Given the description of an element on the screen output the (x, y) to click on. 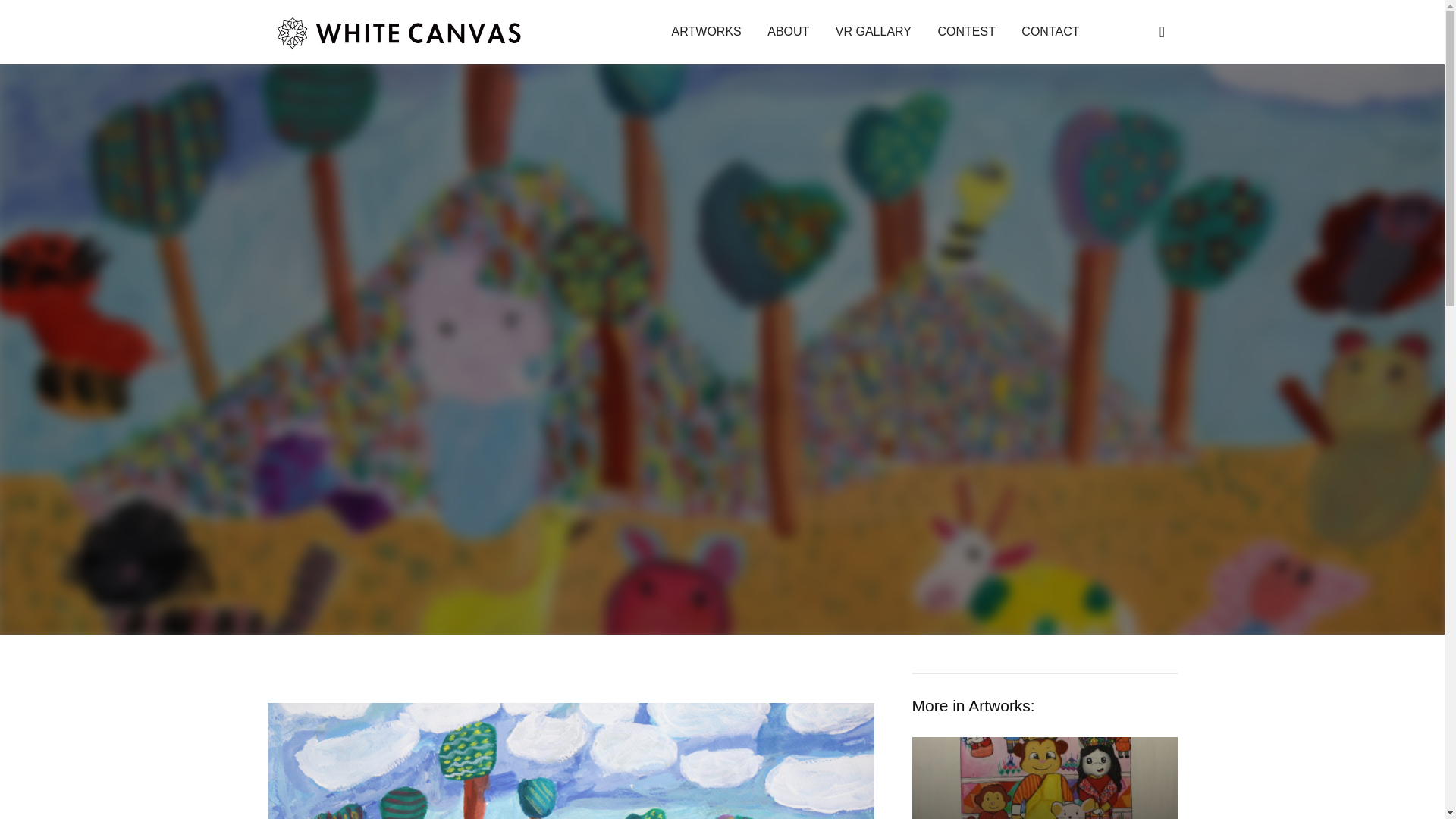
ARTWORKS (706, 31)
ABOUT (788, 31)
CONTACT (1050, 31)
CONTEST (966, 31)
VR GALLARY (873, 31)
